Given the description of an element on the screen output the (x, y) to click on. 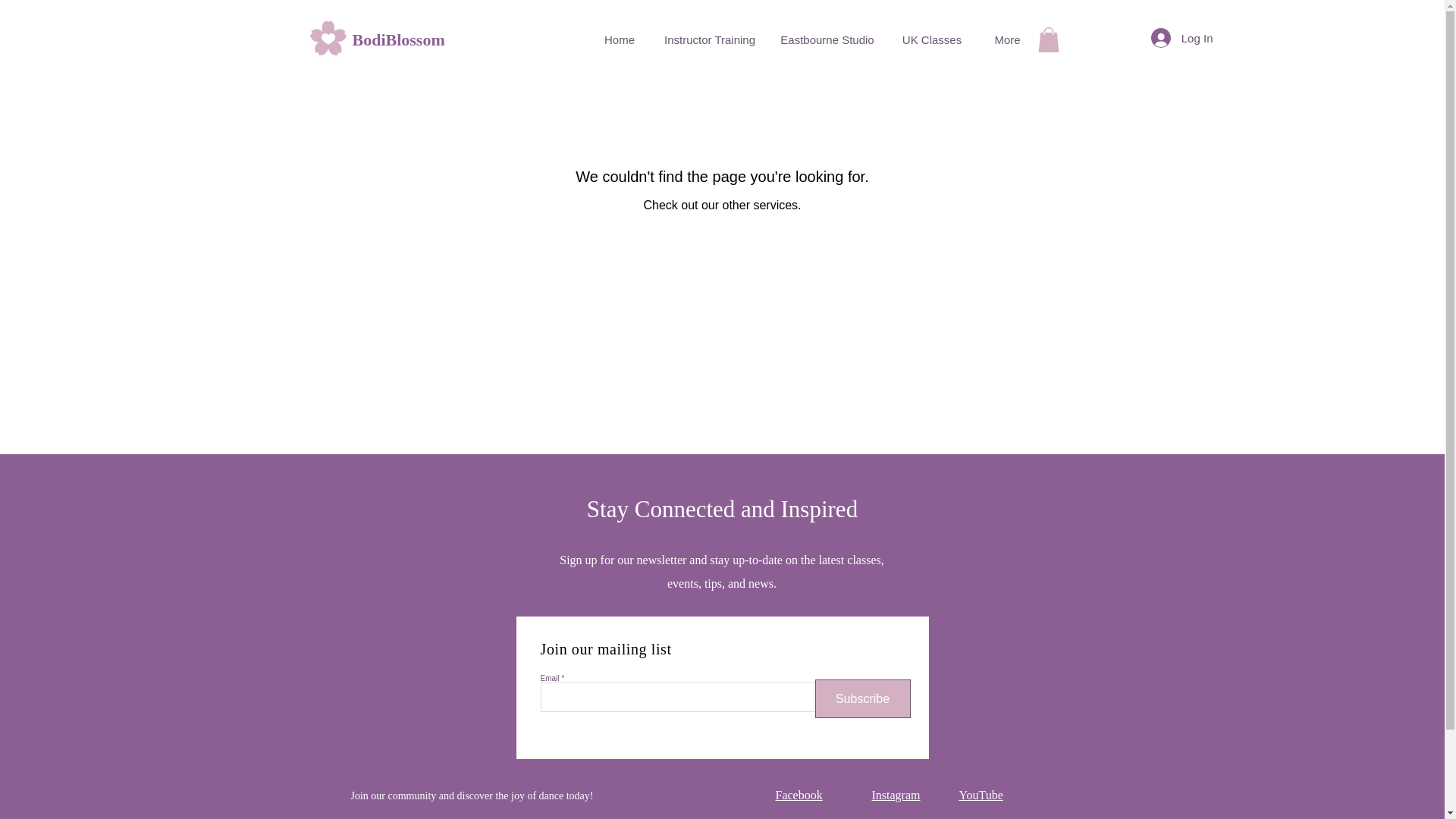
Instructor Training (710, 39)
Subscribe (861, 698)
UK Classes (931, 39)
Instagram (896, 794)
Log In (1182, 37)
Eastbourne Studio (826, 39)
Facebook (798, 794)
YouTube (980, 794)
Home (618, 39)
BodiBlossom (327, 37)
